Given the description of an element on the screen output the (x, y) to click on. 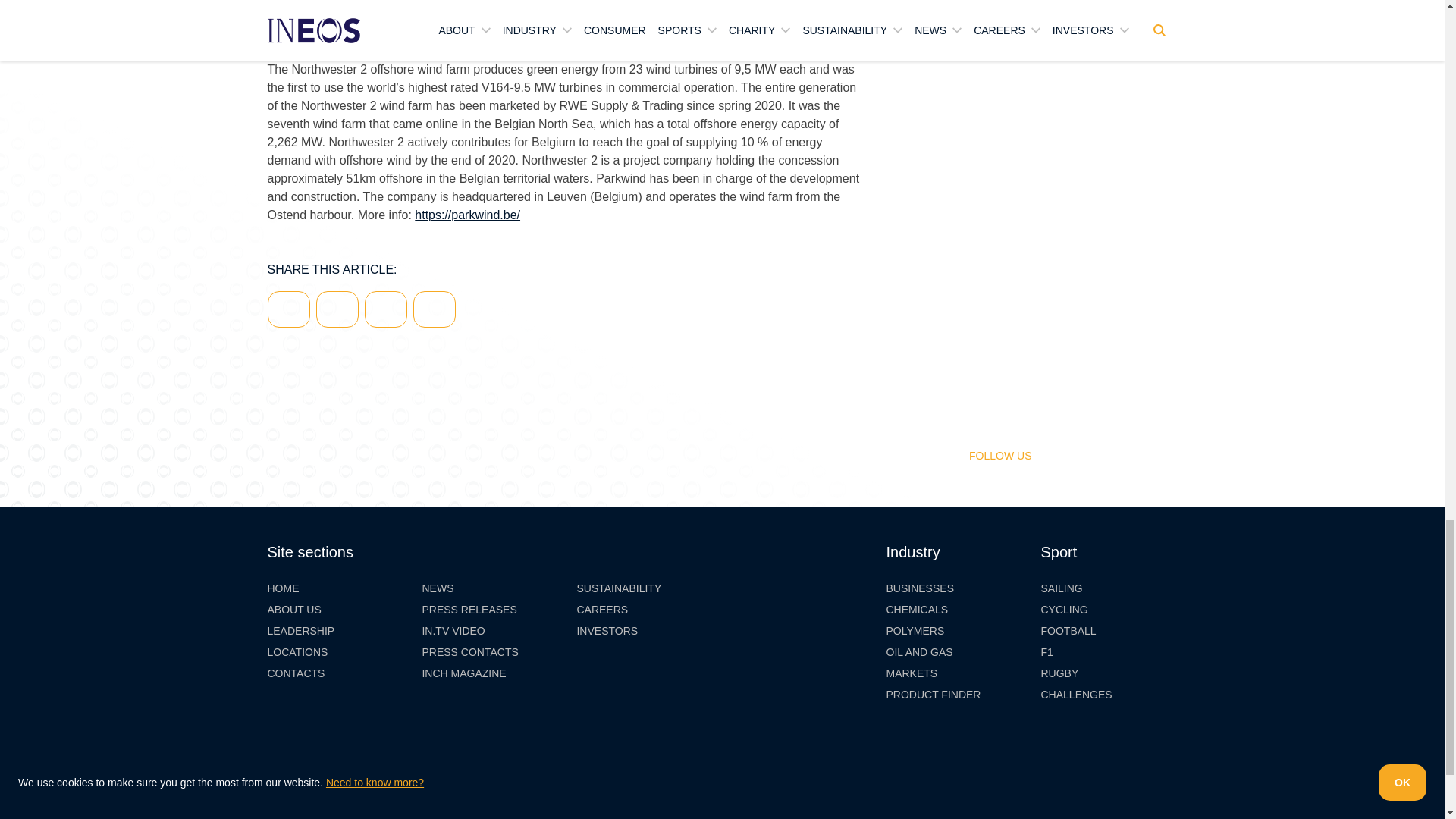
Site designed and developed by The MTM Agency (384, 810)
